Given the description of an element on the screen output the (x, y) to click on. 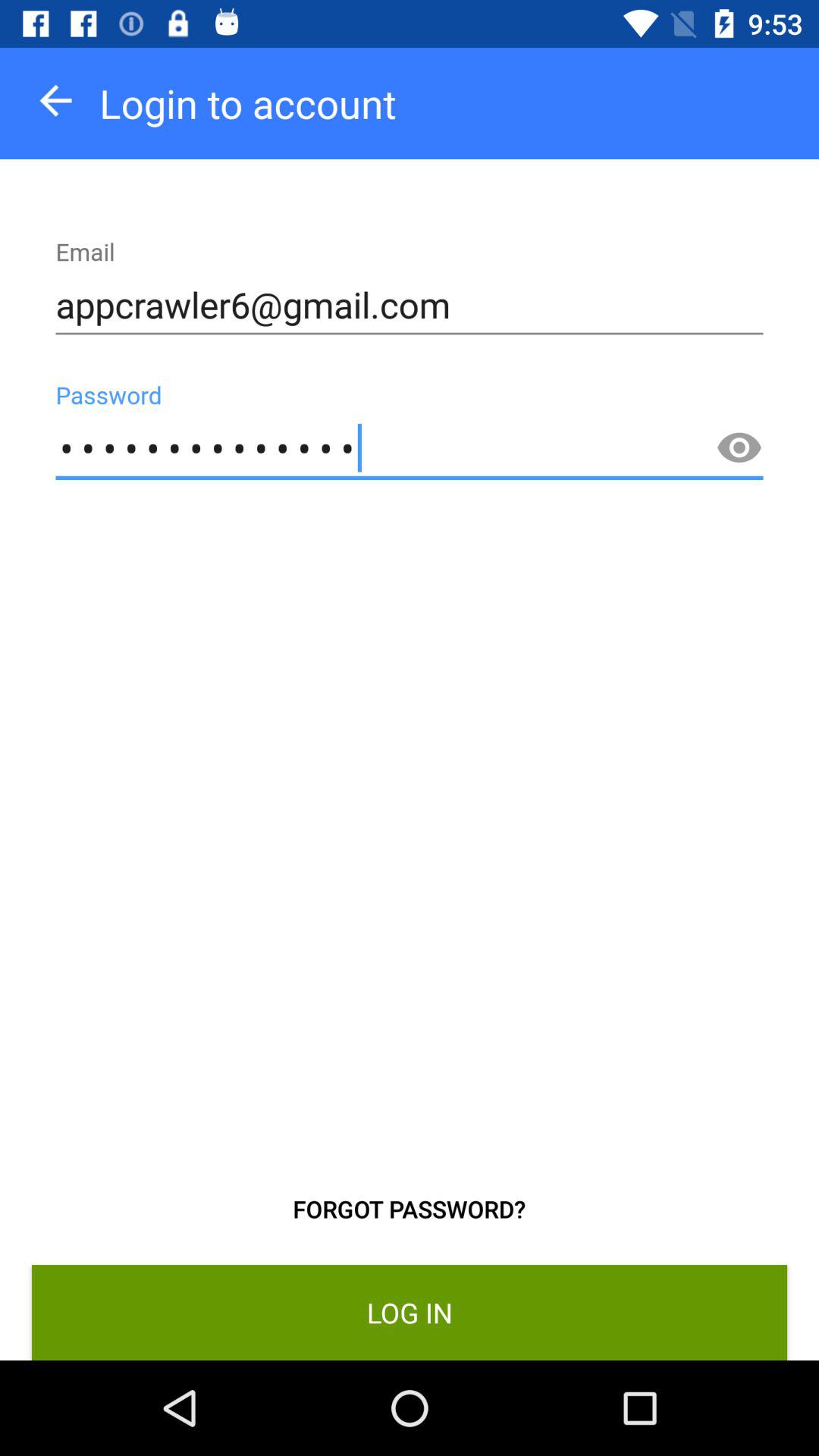
swipe to the appcrawler3116 icon (409, 448)
